Given the description of an element on the screen output the (x, y) to click on. 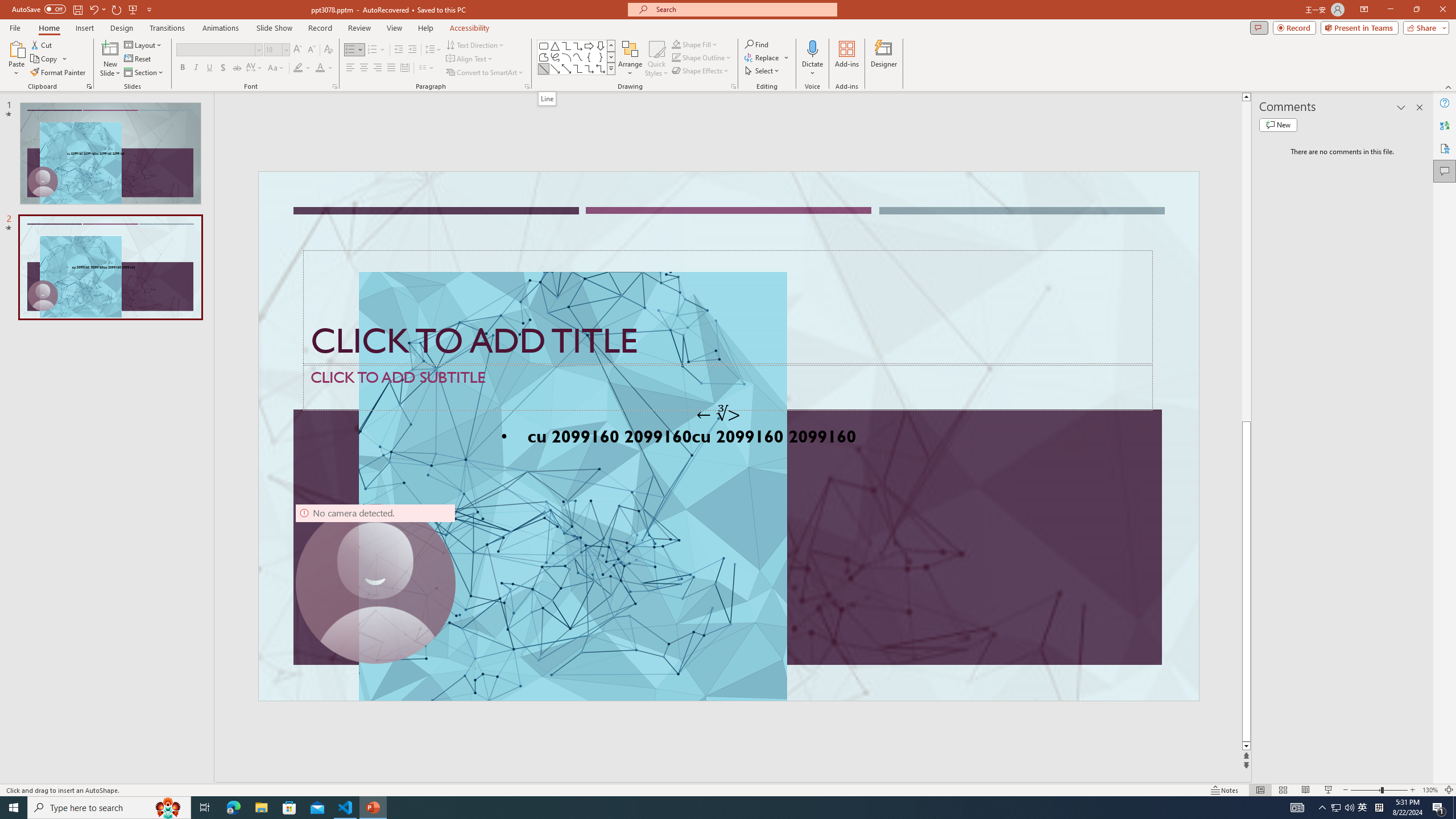
Arrange (630, 58)
Section (144, 72)
Subtitle TextBox (727, 386)
Arc (566, 57)
Numbering (376, 49)
Accessibility (1444, 147)
Dictate (812, 48)
Align Text (470, 58)
Microsoft search (742, 9)
Select (762, 69)
Review (359, 28)
Increase Font Size (297, 49)
Record (320, 28)
Row up (611, 45)
